Given the description of an element on the screen output the (x, y) to click on. 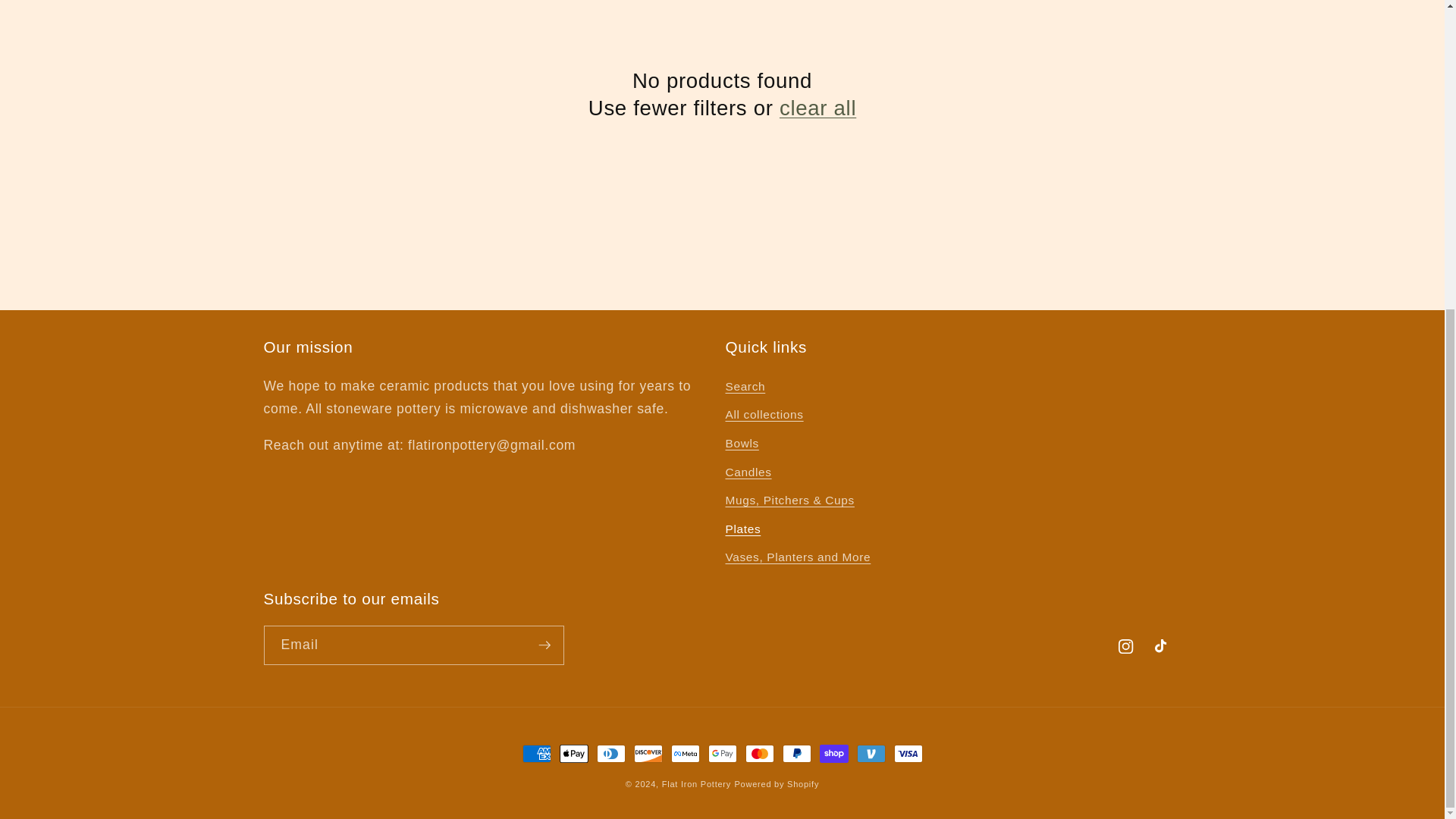
clear all (817, 108)
Bowls (741, 443)
All collections (764, 415)
Search (745, 388)
